Given the description of an element on the screen output the (x, y) to click on. 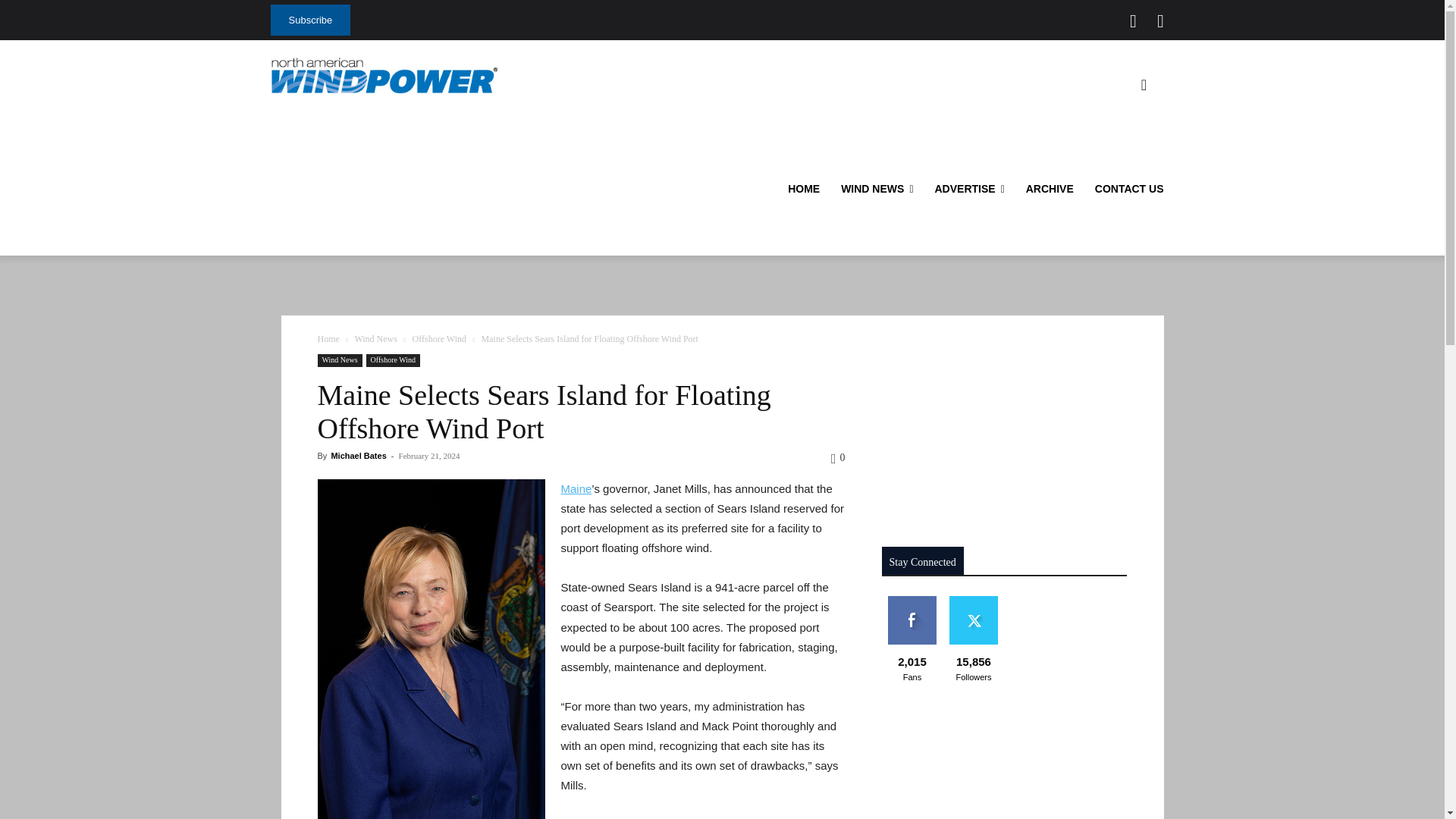
WIND NEWS (876, 188)
Subscribe (309, 20)
Subscribe (309, 20)
North American Windpower (383, 75)
Twitter (1133, 21)
Rss (1160, 21)
